Given the description of an element on the screen output the (x, y) to click on. 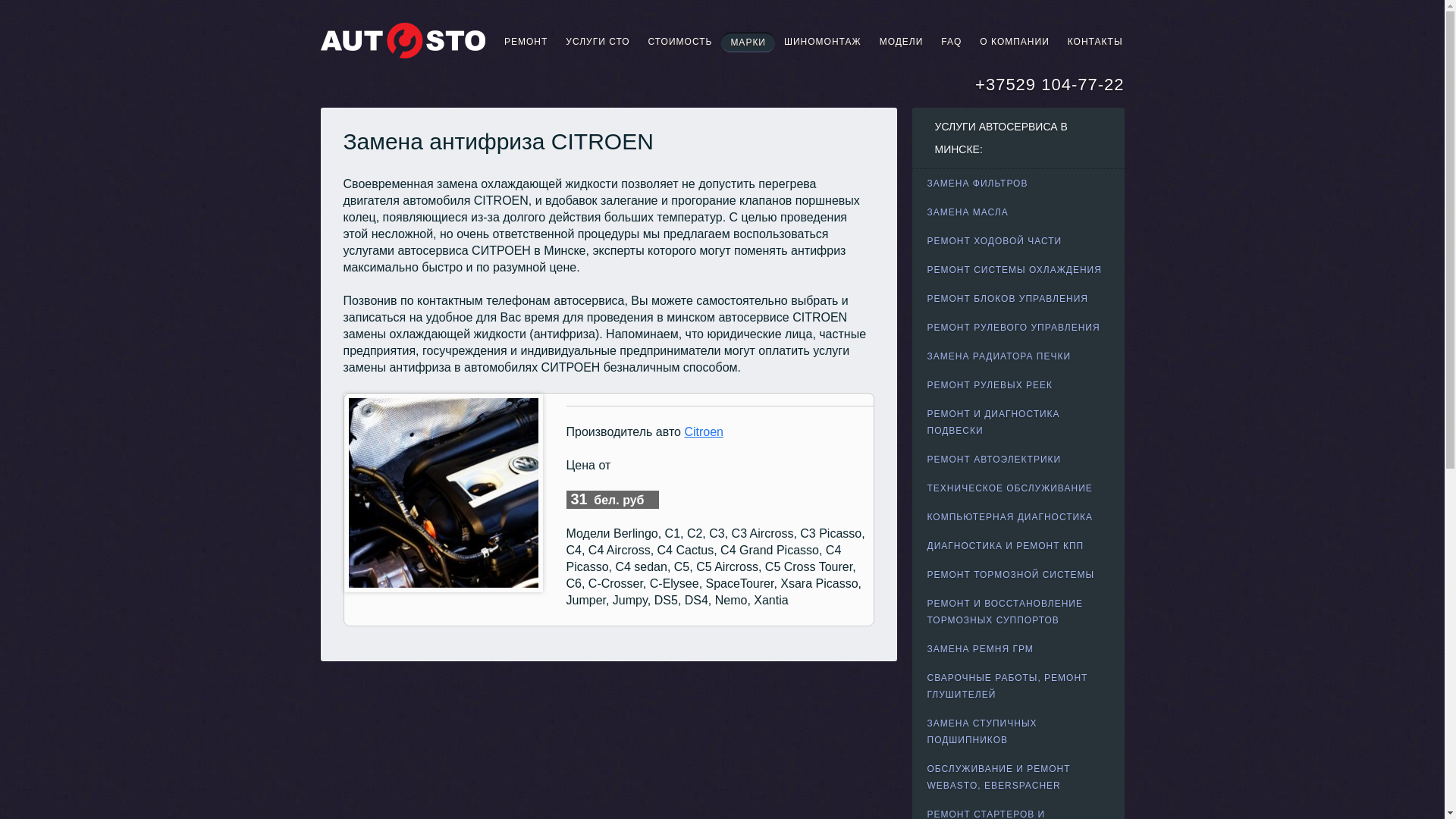
FAQ Element type: text (950, 41)
Citroen Element type: text (703, 431)
